Given the description of an element on the screen output the (x, y) to click on. 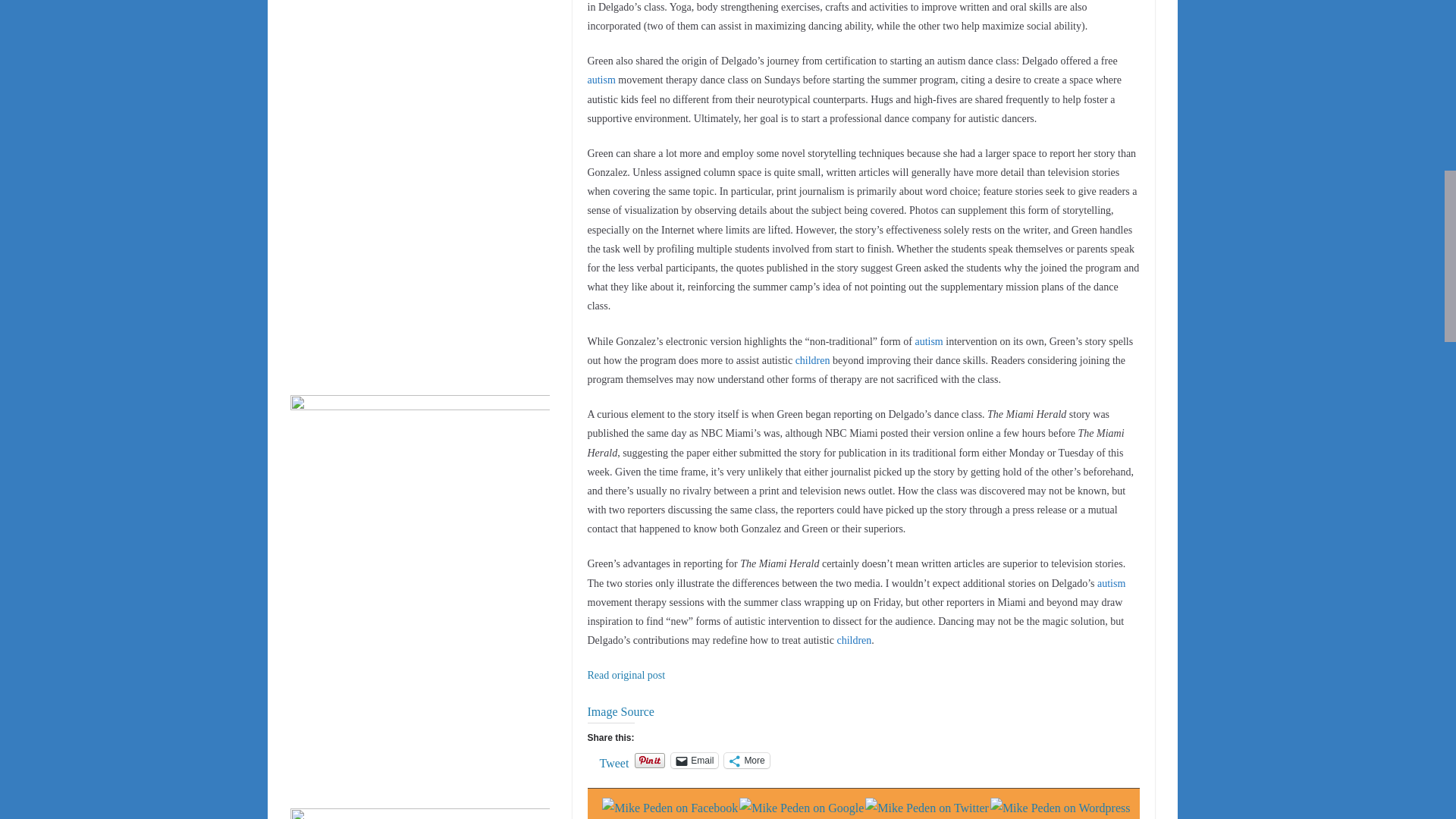
Autism and Adolescence (811, 360)
Tweet (613, 759)
Autism and Adolescence (928, 341)
Click to email a link to a friend (694, 760)
Image Source (619, 711)
children (811, 360)
children (852, 640)
autism (1111, 583)
More (745, 760)
Email (694, 760)
